Given the description of an element on the screen output the (x, y) to click on. 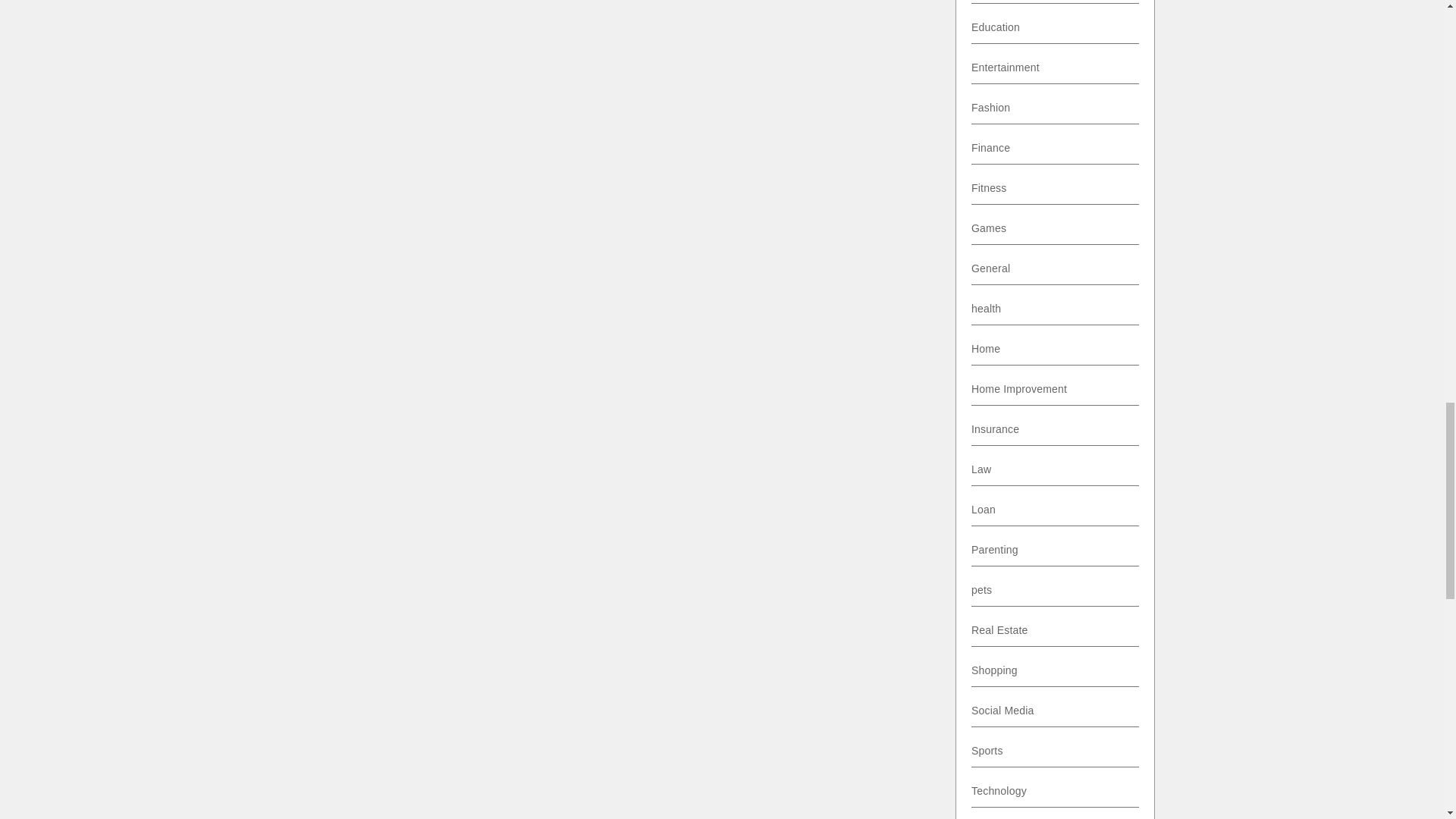
Fashion (987, 107)
Entertainment (1002, 67)
Fitness (986, 187)
Education (995, 27)
General (990, 268)
health (986, 308)
pets (981, 589)
Games (988, 227)
Finance (987, 147)
Parenting (994, 549)
